Given the description of an element on the screen output the (x, y) to click on. 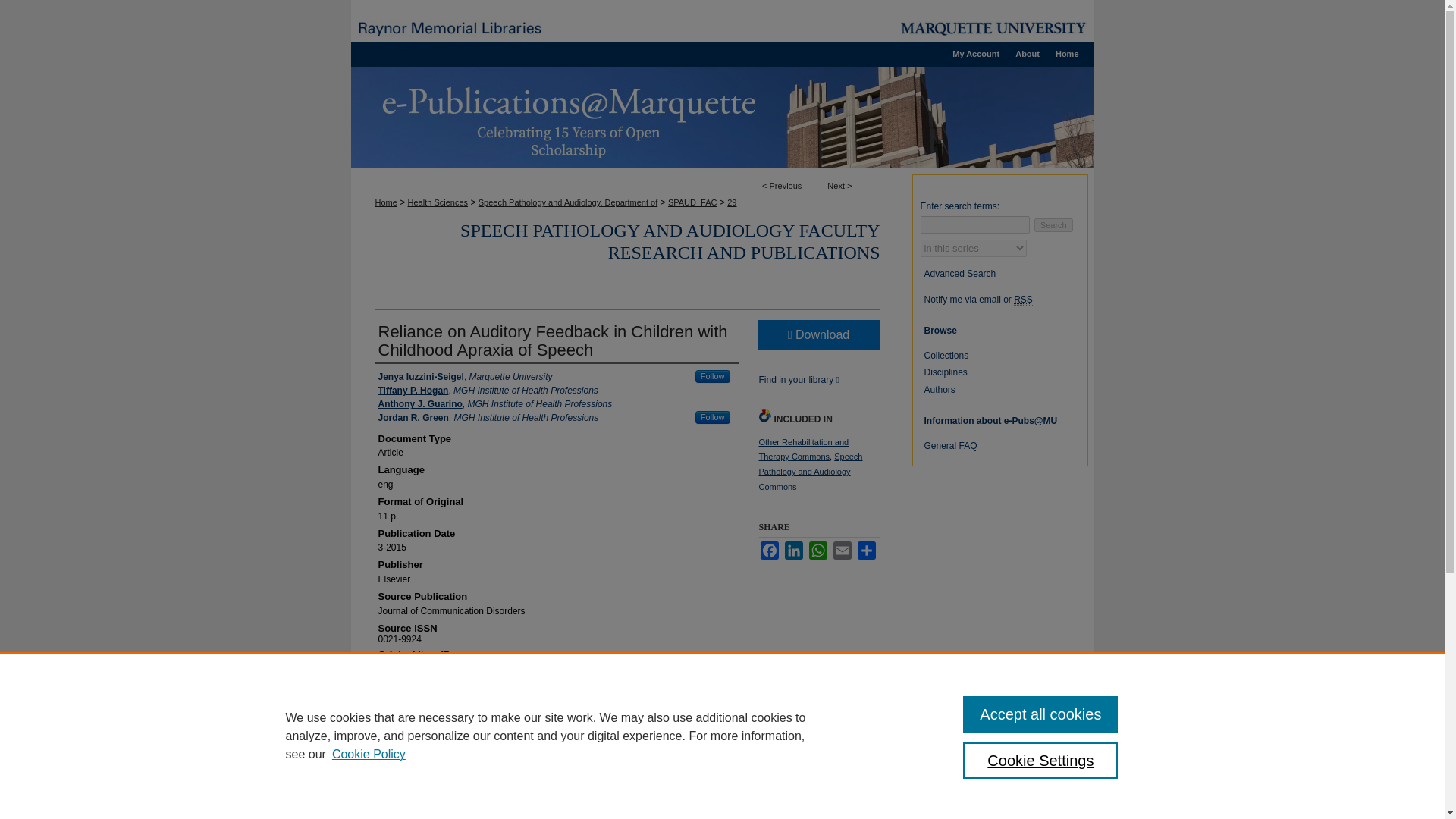
LinkedIn (793, 550)
Find in your library (798, 379)
29 (731, 202)
Follow (712, 376)
About (1026, 53)
Download (818, 335)
Search (1053, 224)
Follow (712, 417)
Previous (786, 185)
Tiffany P. Hogan, MGH Institute of Health Professions (486, 390)
Follow Jordan R. Green (712, 417)
Facebook (768, 550)
Health Sciences (437, 202)
Home (385, 202)
